Given the description of an element on the screen output the (x, y) to click on. 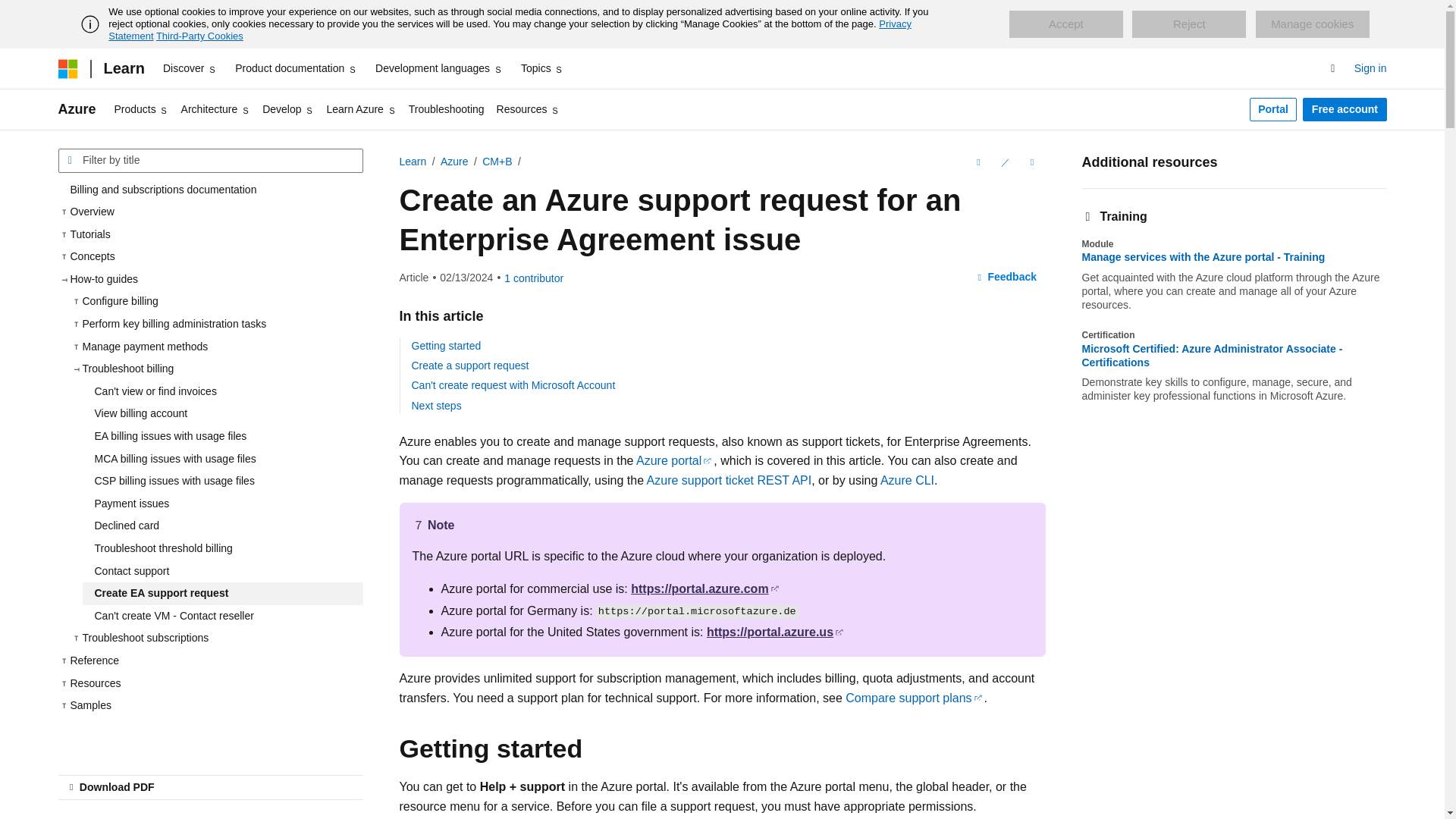
Products (140, 109)
View all contributors (533, 277)
Development languages (438, 68)
Discover (189, 68)
Accept (1065, 23)
More actions (1031, 161)
Privacy Statement (509, 29)
Third-Party Cookies (199, 35)
Topics (542, 68)
Sign in (1370, 68)
Product documentation (295, 68)
Reject (1189, 23)
Skip to main content (11, 11)
Azure (77, 109)
Learn (123, 68)
